Given the description of an element on the screen output the (x, y) to click on. 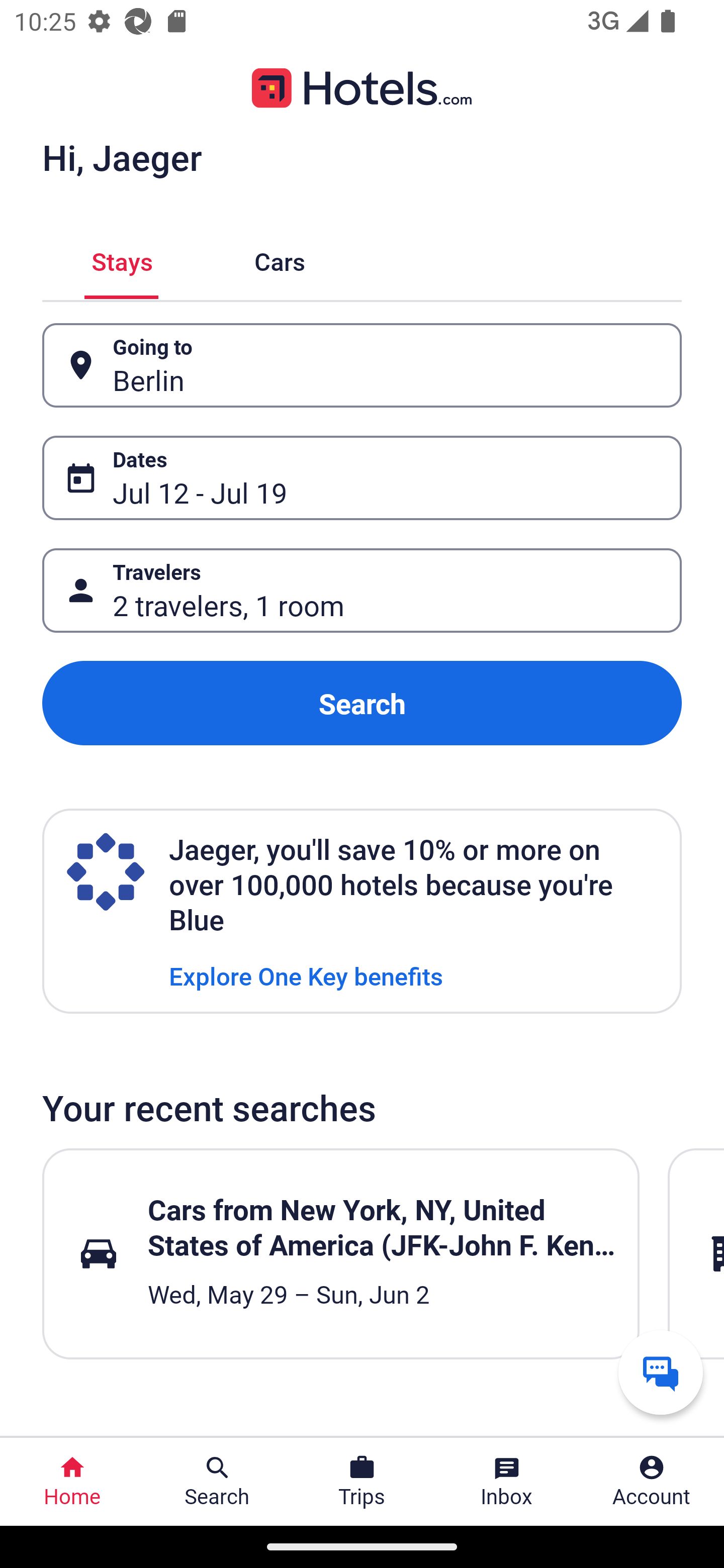
Hi, Jaeger (121, 156)
Cars (279, 259)
Going to Button Berlin (361, 365)
Dates Button Jul 12 - Jul 19 (361, 477)
Travelers Button 2 travelers, 1 room (361, 590)
Search (361, 702)
Get help from a virtual agent (660, 1371)
Search Search Button (216, 1481)
Trips Trips Button (361, 1481)
Inbox Inbox Button (506, 1481)
Account Profile. Button (651, 1481)
